Given the description of an element on the screen output the (x, y) to click on. 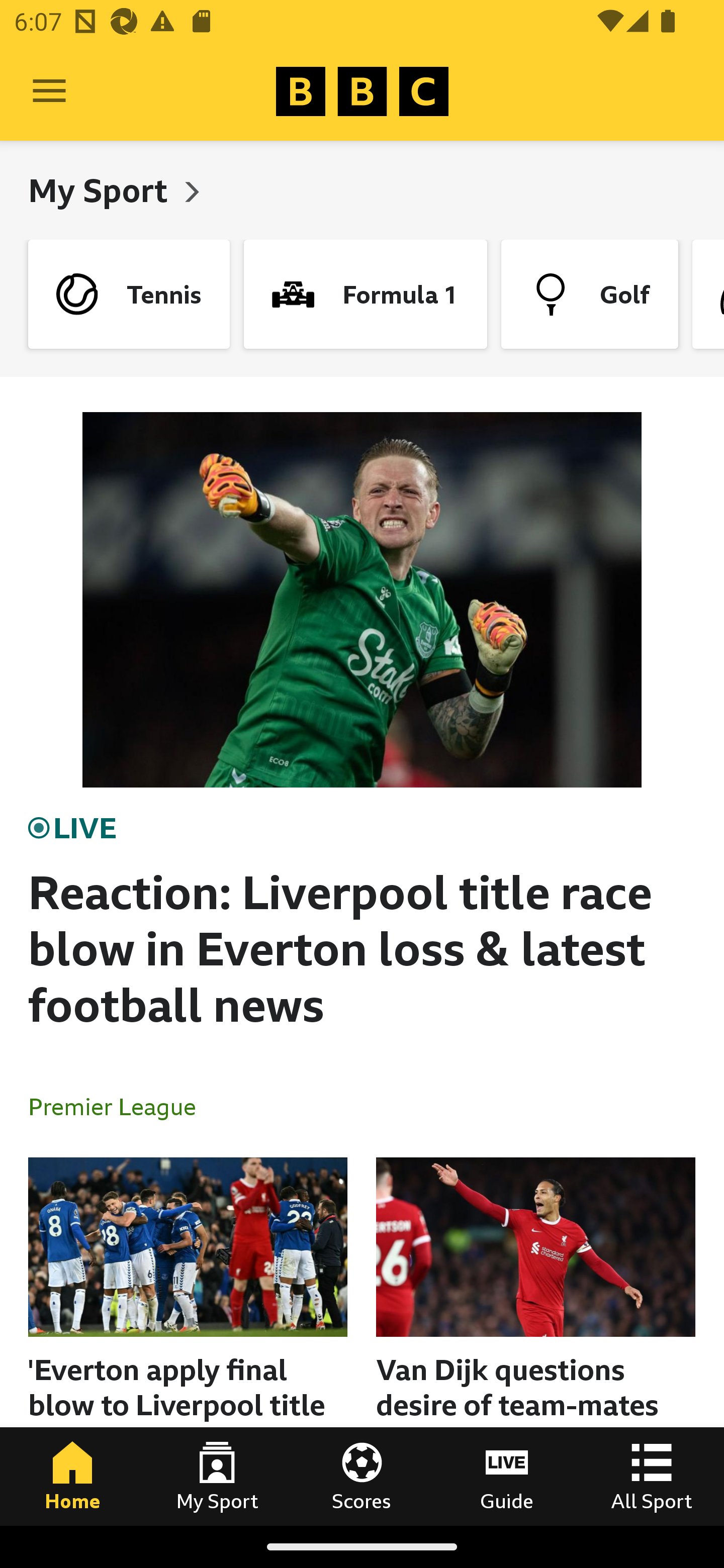
Open Menu (49, 91)
My Sport (101, 190)
Premier League In the section Premier League (119, 1106)
My Sport (216, 1475)
Scores (361, 1475)
Guide (506, 1475)
All Sport (651, 1475)
